Given the description of an element on the screen output the (x, y) to click on. 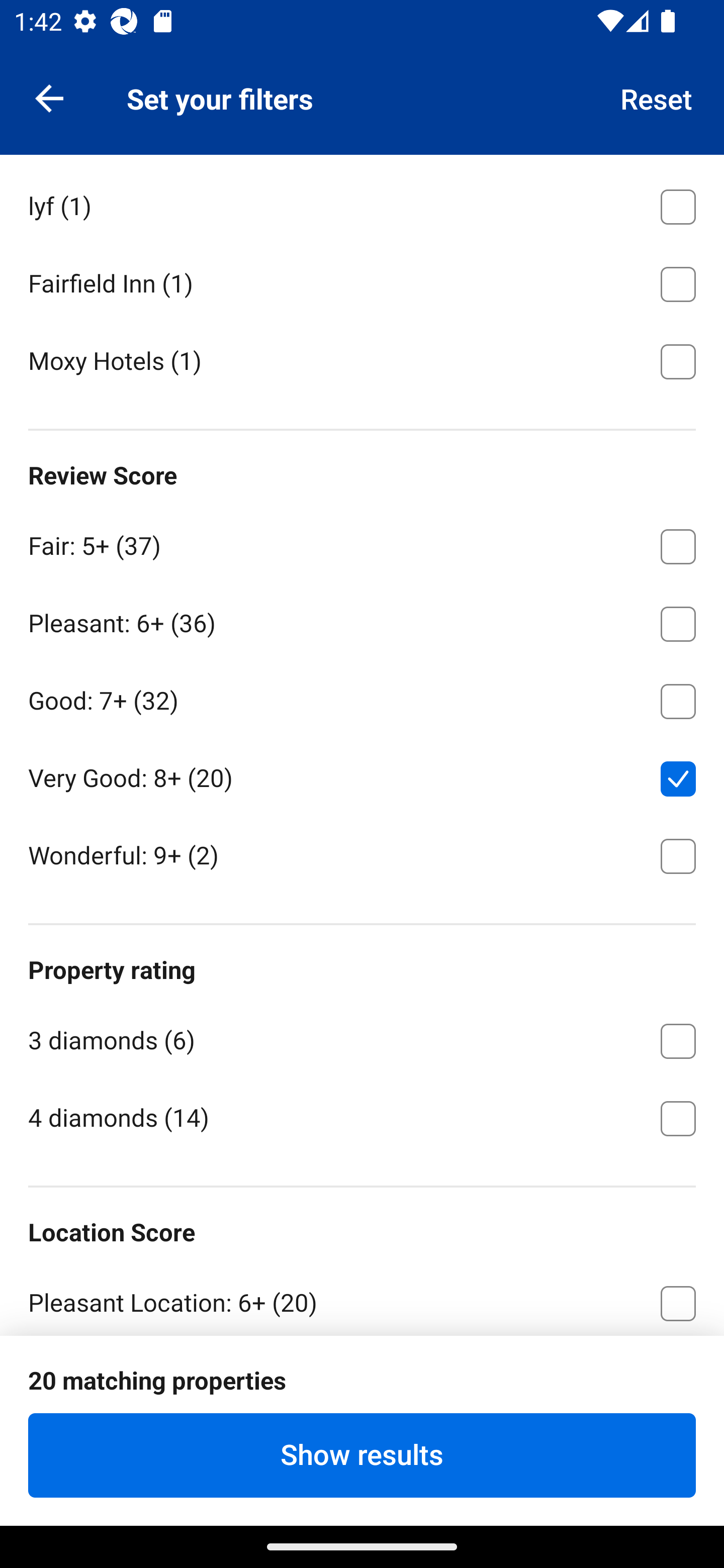
Navigate up (49, 97)
Reset (656, 97)
lyf ⁦(1) (361, 202)
Fairfield Inn ⁦(1) (361, 280)
Moxy Hotels ⁦(1) (361, 359)
Fair: 5+ ⁦(37) (361, 542)
Pleasant: 6+ ⁦(36) (361, 620)
Good: 7+ ⁦(32) (361, 698)
Very Good: 8+ ⁦(20) (361, 774)
Wonderful: 9+ ⁦(2) (361, 854)
3 diamonds ⁦(6) (361, 1037)
4 diamonds ⁦(14) (361, 1117)
Pleasant Location: 6+ ⁦(20) (361, 1297)
Good Location: 7+ ⁦(20) (361, 1377)
Show results (361, 1454)
